Given the description of an element on the screen output the (x, y) to click on. 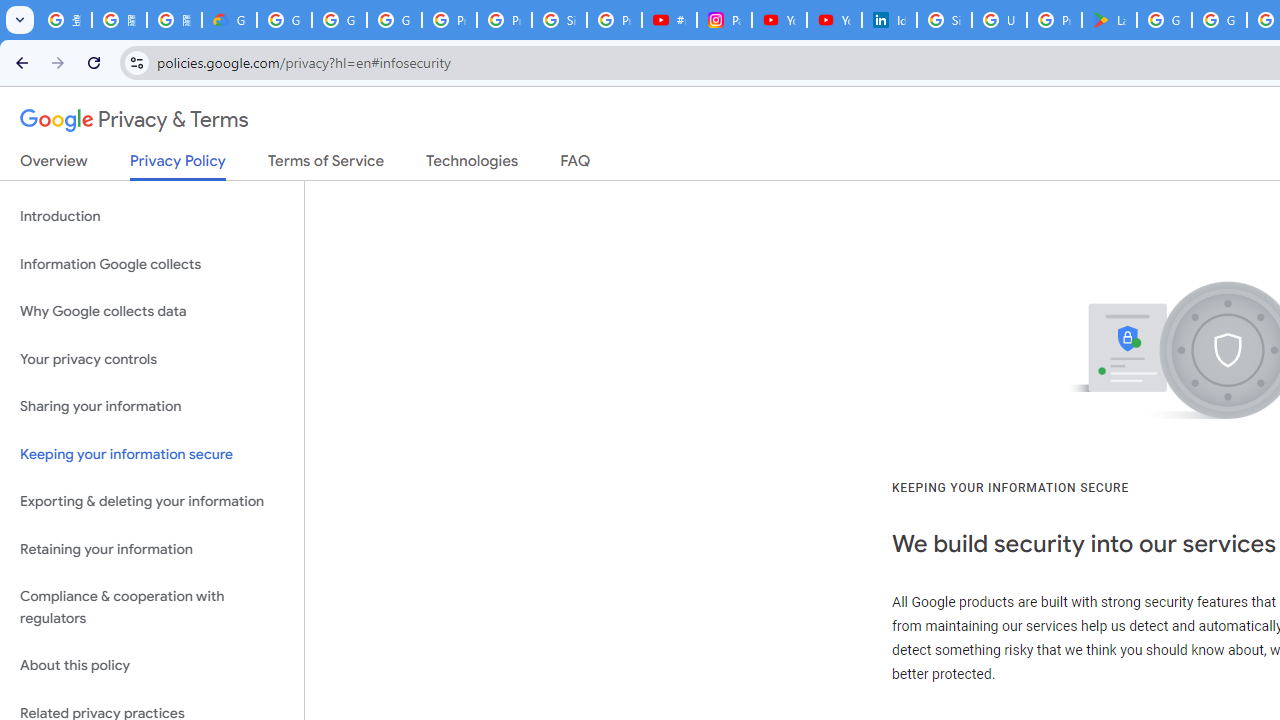
YouTube Culture & Trends - YouTube Top 10, 2021 (833, 20)
Google Workspace - Specific Terms (1218, 20)
Last Shelter: Survival - Apps on Google Play (1108, 20)
